Given the description of an element on the screen output the (x, y) to click on. 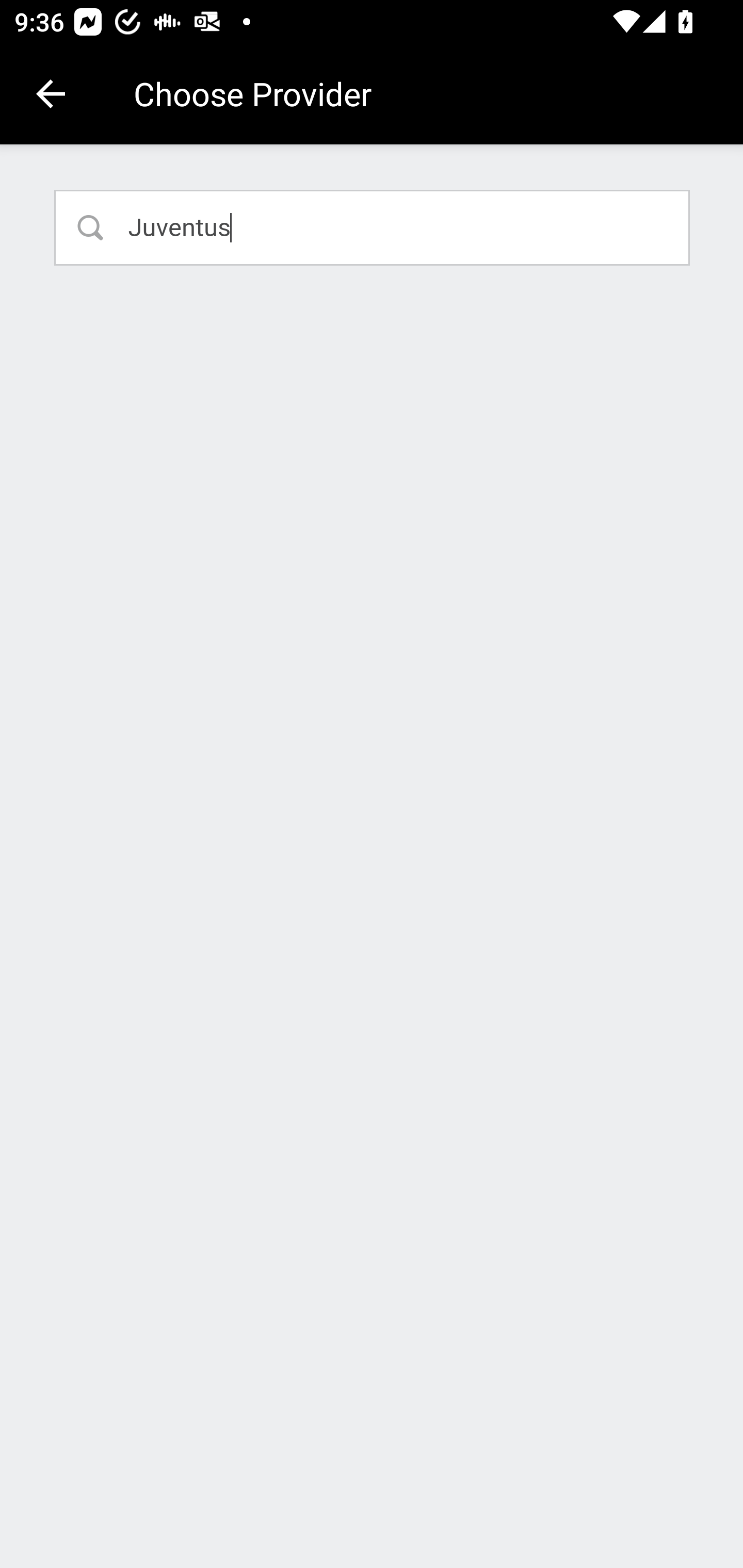
Navigate up (50, 93)
Juventus (372, 227)
